Given the description of an element on the screen output the (x, y) to click on. 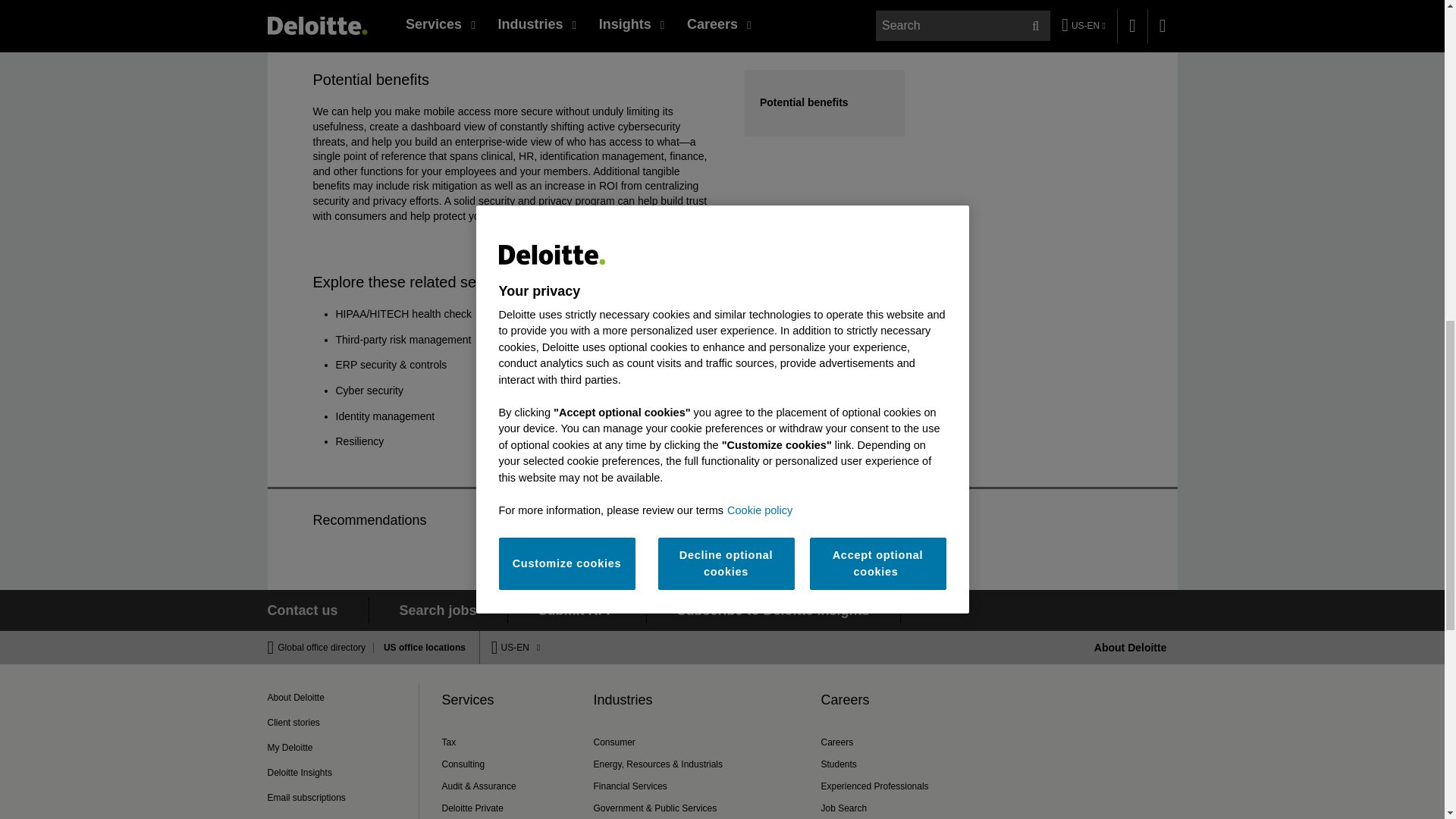
US office locations (420, 647)
Global office directory (326, 647)
About Deloitte (1130, 647)
